Given the description of an element on the screen output the (x, y) to click on. 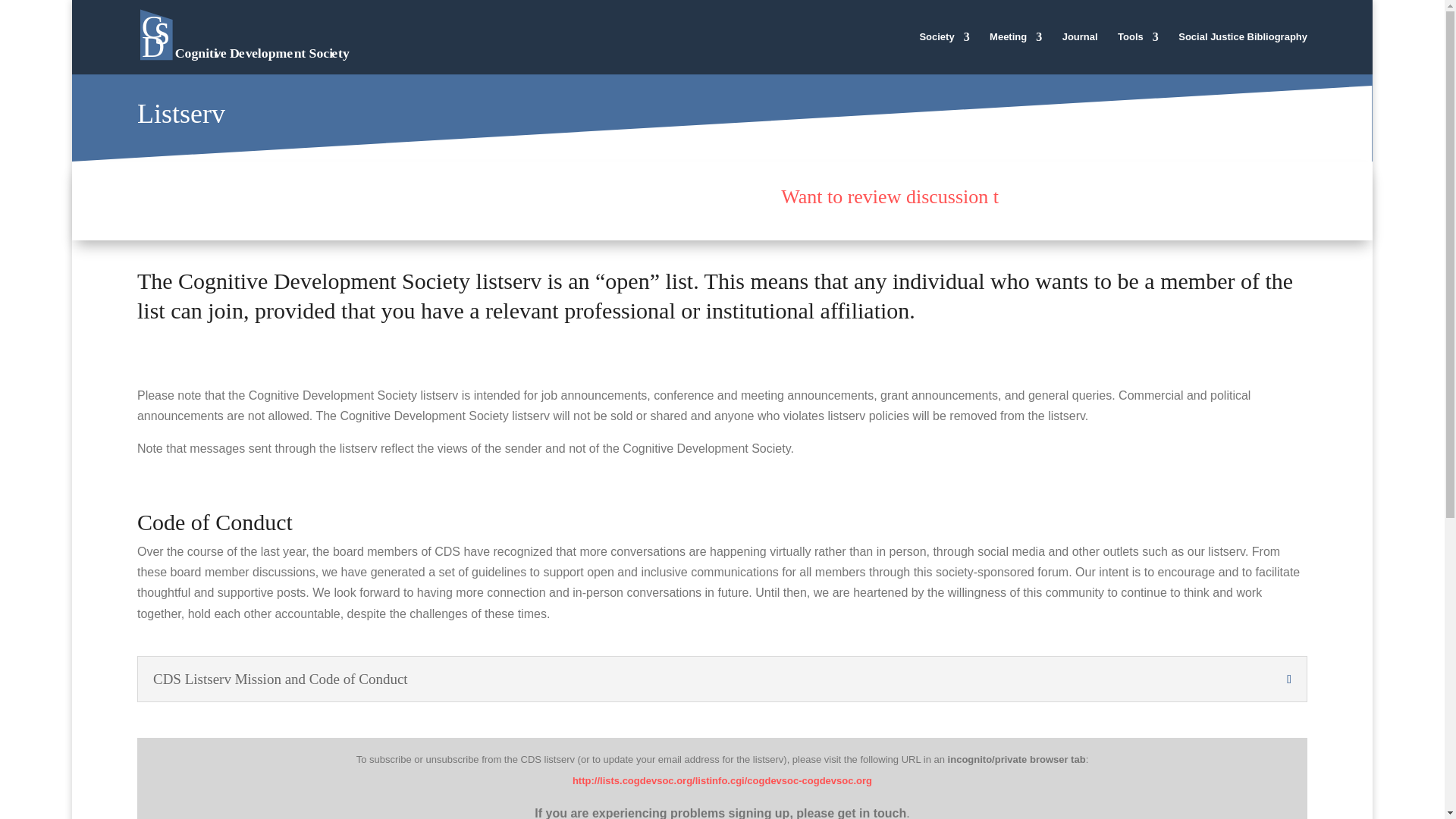
Society (943, 52)
Tools (1138, 52)
Social Justice Bibliography (1242, 52)
Meeting (1016, 52)
